Given the description of an element on the screen output the (x, y) to click on. 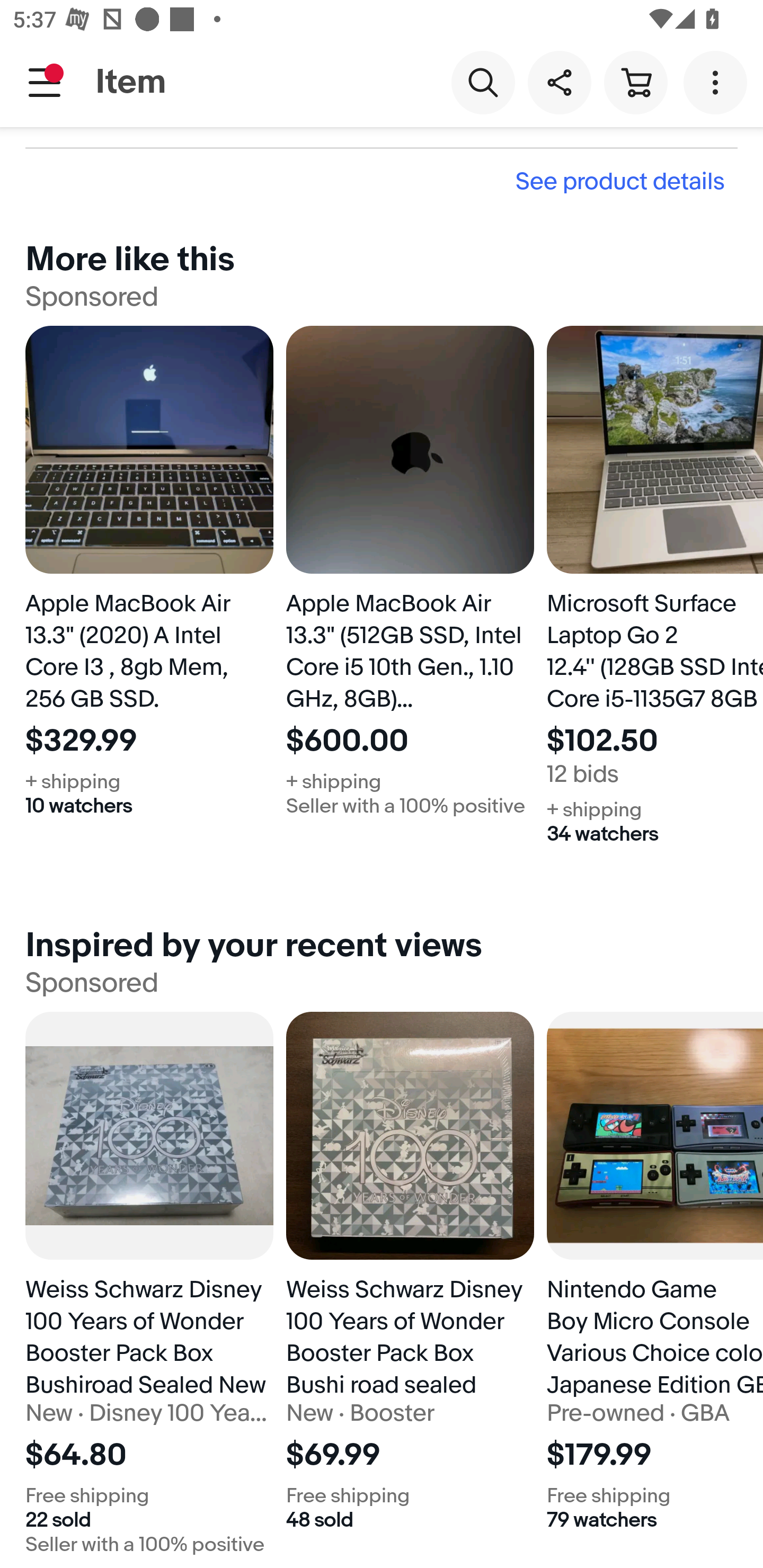
Main navigation, notification is pending, open (44, 82)
Search (482, 81)
Share this item (559, 81)
Cart button shopping cart (635, 81)
More options (718, 81)
See product details (381, 180)
